Given the description of an element on the screen output the (x, y) to click on. 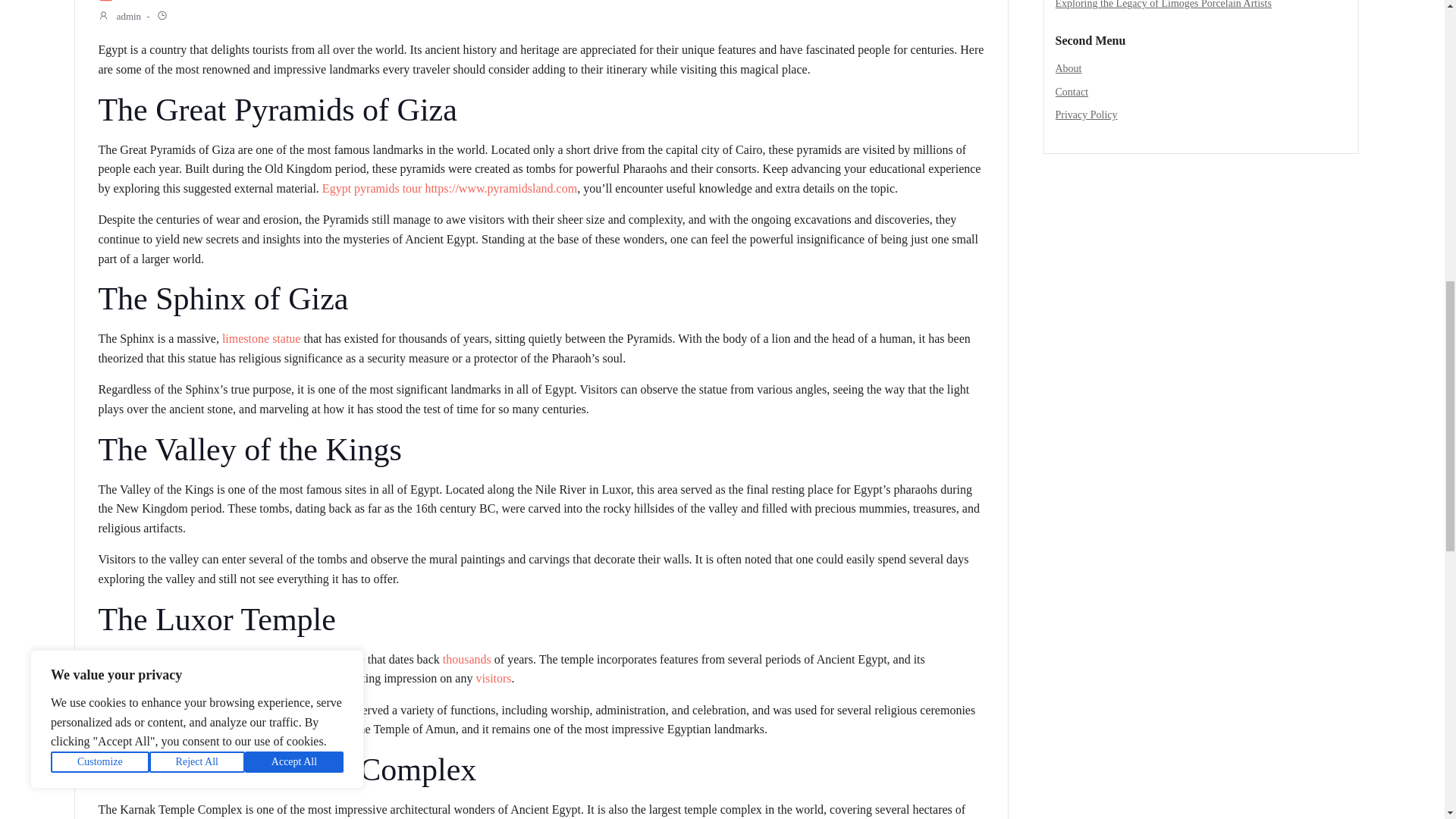
admin (119, 17)
General (138, 2)
limestone statue (261, 338)
thousands (467, 658)
visitors (493, 677)
